Given the description of an element on the screen output the (x, y) to click on. 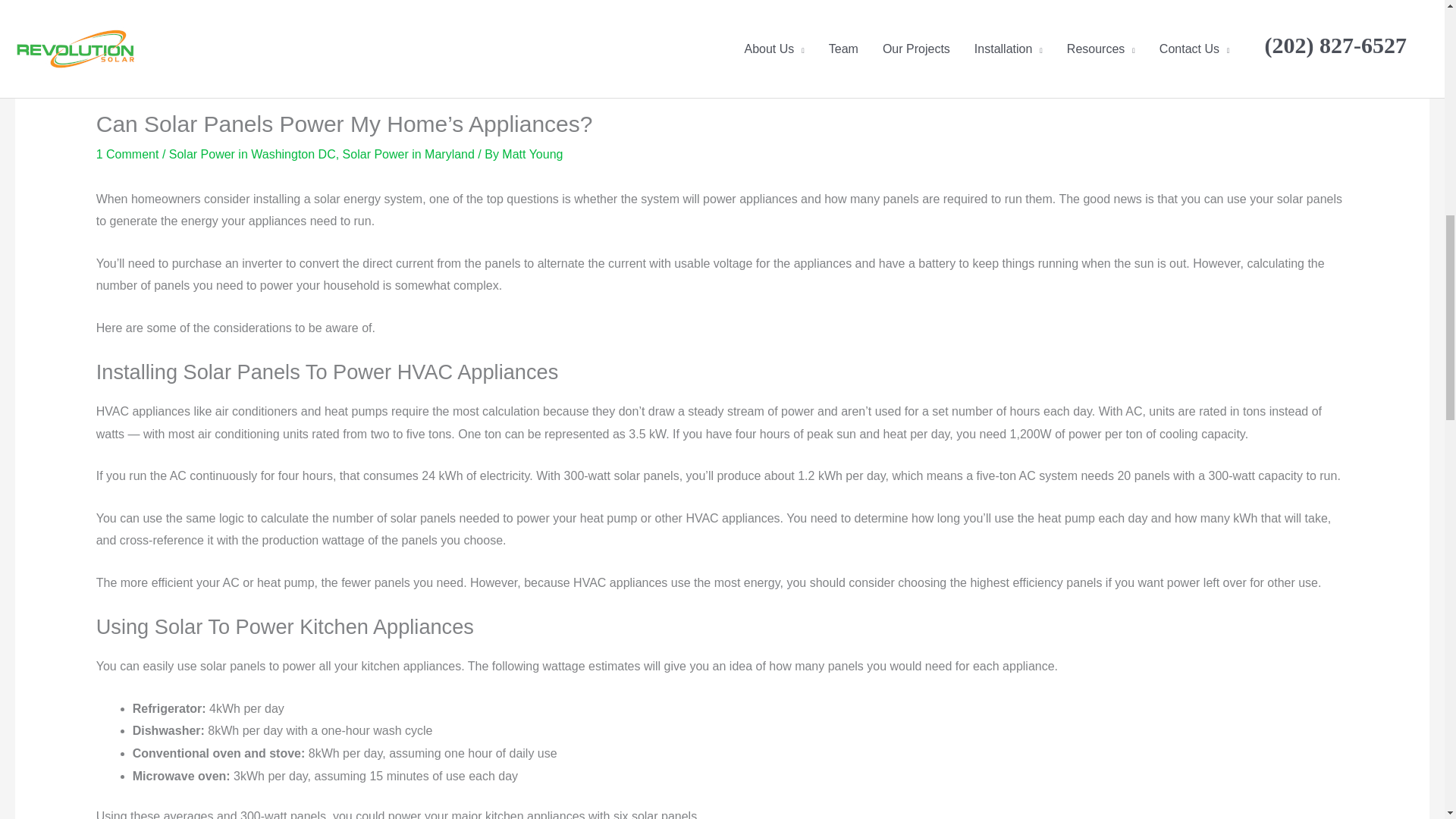
View all posts by Matt Young (532, 154)
Solar Power in Washington DC (252, 154)
Solar Power in Maryland (408, 154)
Matt Young (532, 154)
1 Comment (127, 154)
